Given the description of an element on the screen output the (x, y) to click on. 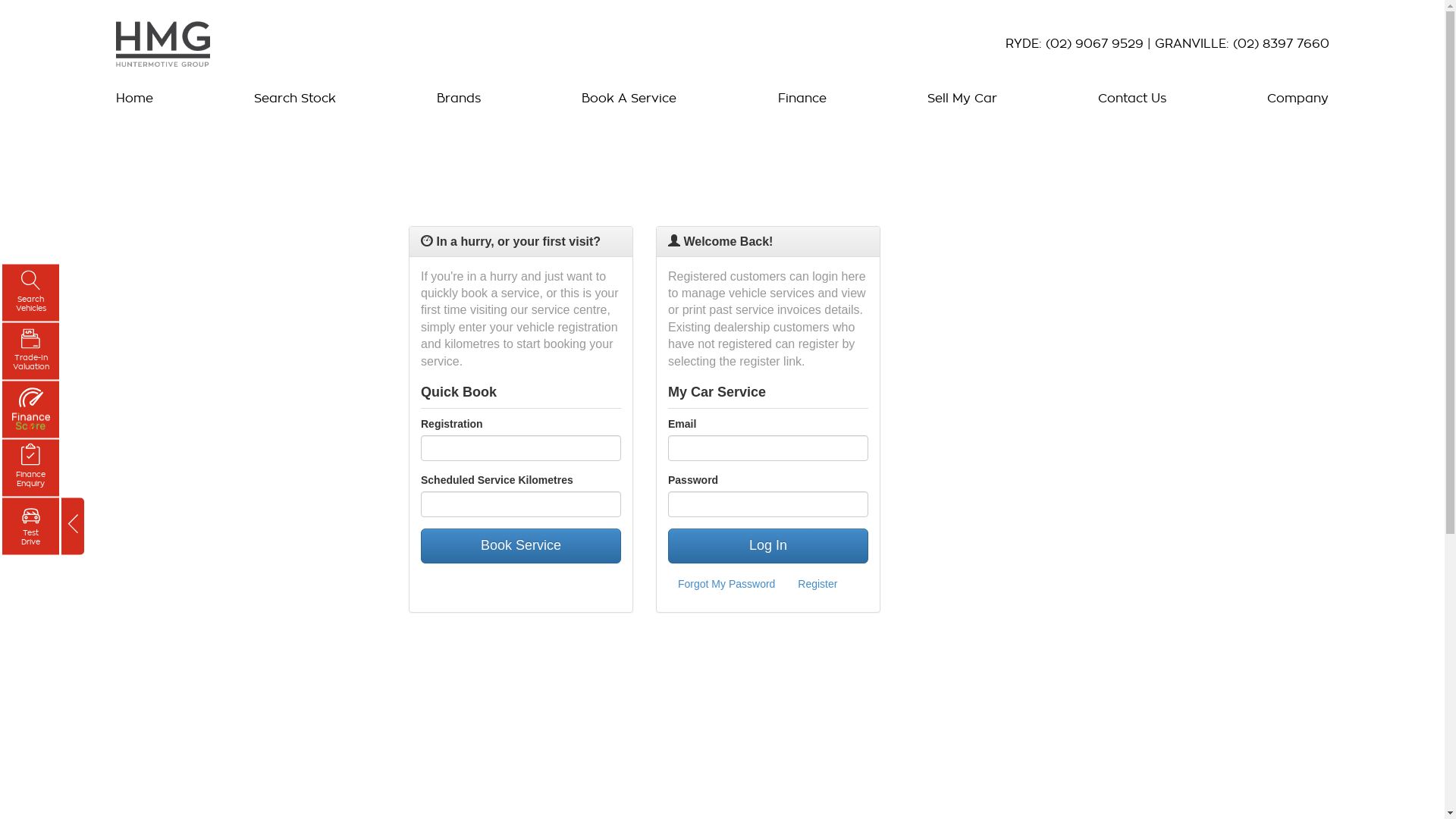
Search
Vehicles Element type: text (30, 291)
Company Element type: text (1293, 98)
GRANVILLE: (02) 8397 7660 Element type: text (1241, 43)
RYDE: (02) 9067 9529 | Element type: text (1079, 43)
Sell My Car Element type: text (961, 98)
Brands Element type: text (458, 98)
Contact Us Element type: text (1131, 98)
Search Stock Element type: text (294, 98)
Finance Element type: text (802, 98)
Finance
Enquiry Element type: text (30, 467)
Test
Drive Element type: text (30, 525)
Trade-In
Valuation Element type: text (30, 351)
Book A Service Element type: text (629, 98)
Home Element type: text (137, 98)
